Given the description of an element on the screen output the (x, y) to click on. 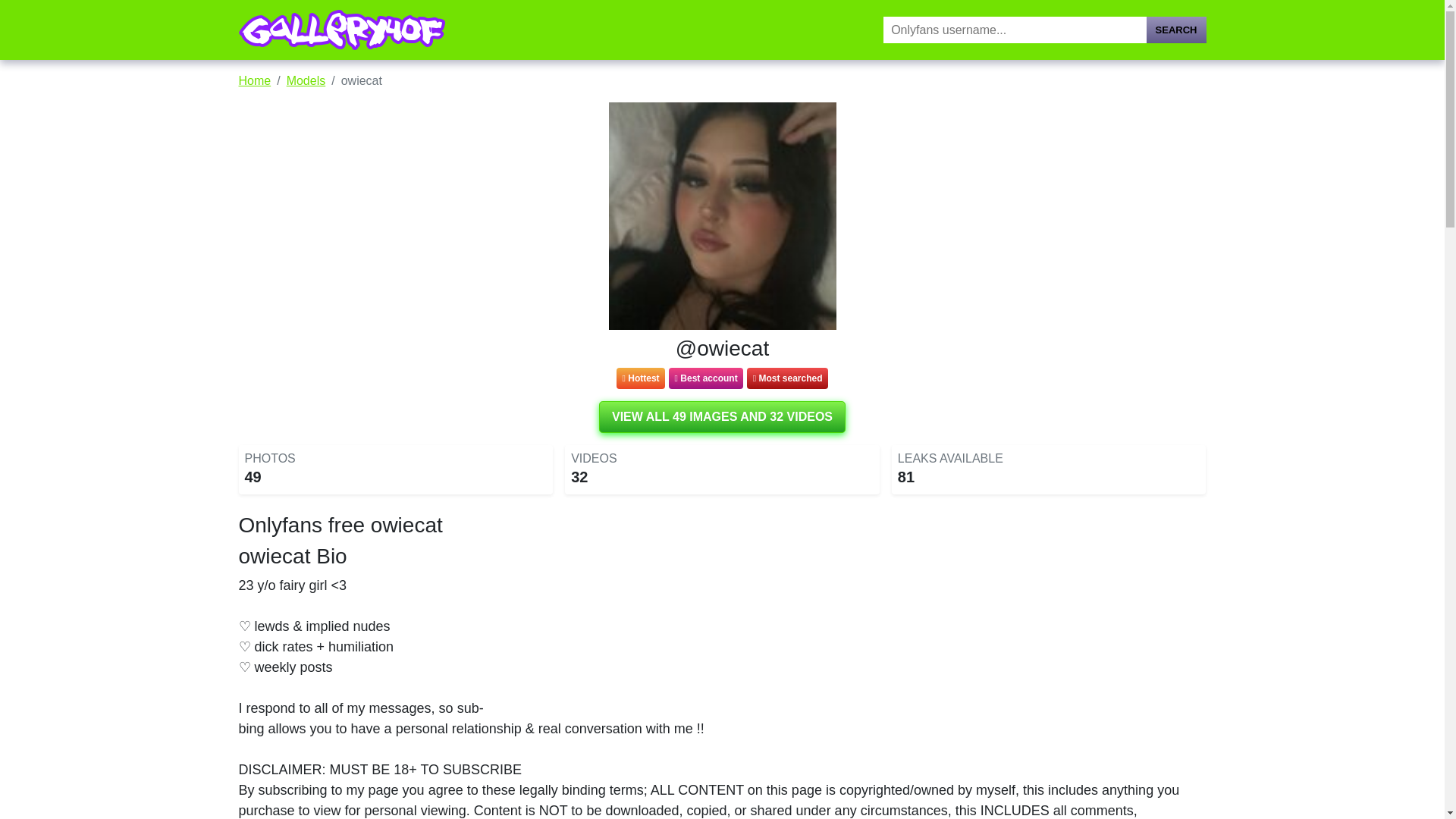
VIEW ALL 49 IMAGES AND 32 VIDEOS (721, 417)
SEARCH (1177, 29)
Models (306, 80)
Home (254, 80)
